Given the description of an element on the screen output the (x, y) to click on. 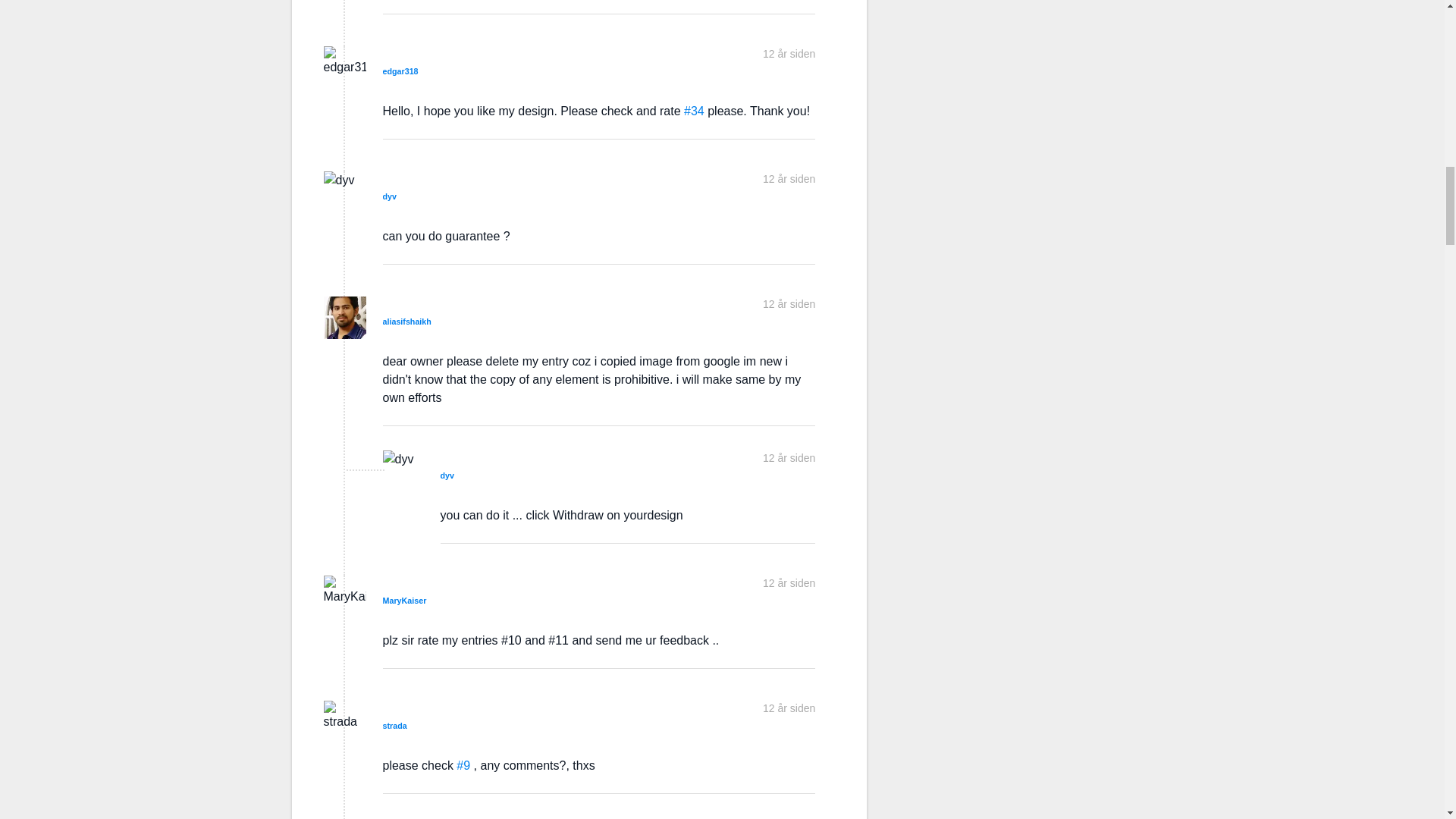
aliasifshaikh (405, 320)
dyv (388, 195)
MaryKaiser (403, 600)
strada (393, 725)
edgar318 (399, 71)
dyv (445, 474)
